Given the description of an element on the screen output the (x, y) to click on. 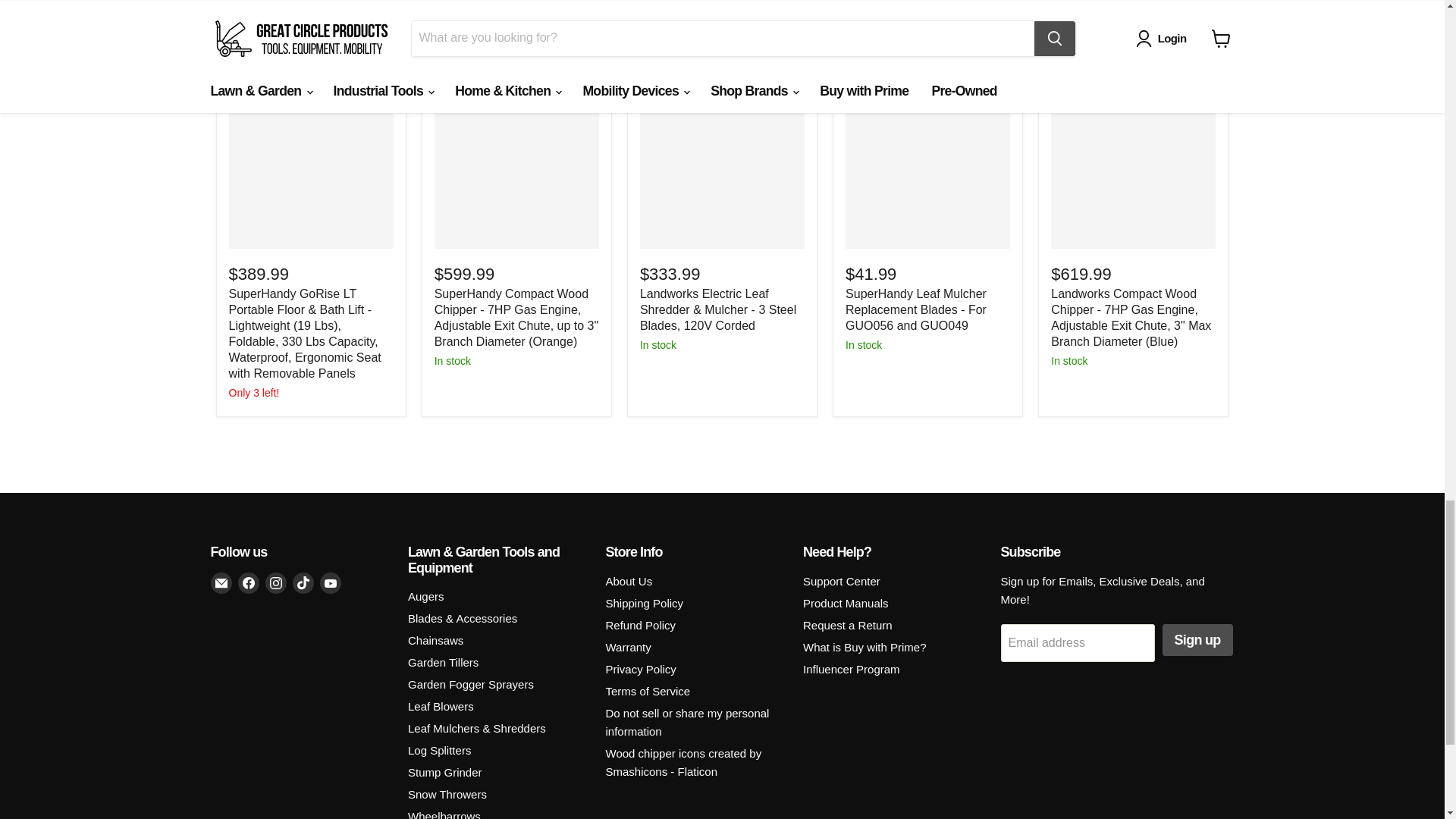
Email (221, 582)
Instagram (275, 582)
Facebook (248, 582)
